Given the description of an element on the screen output the (x, y) to click on. 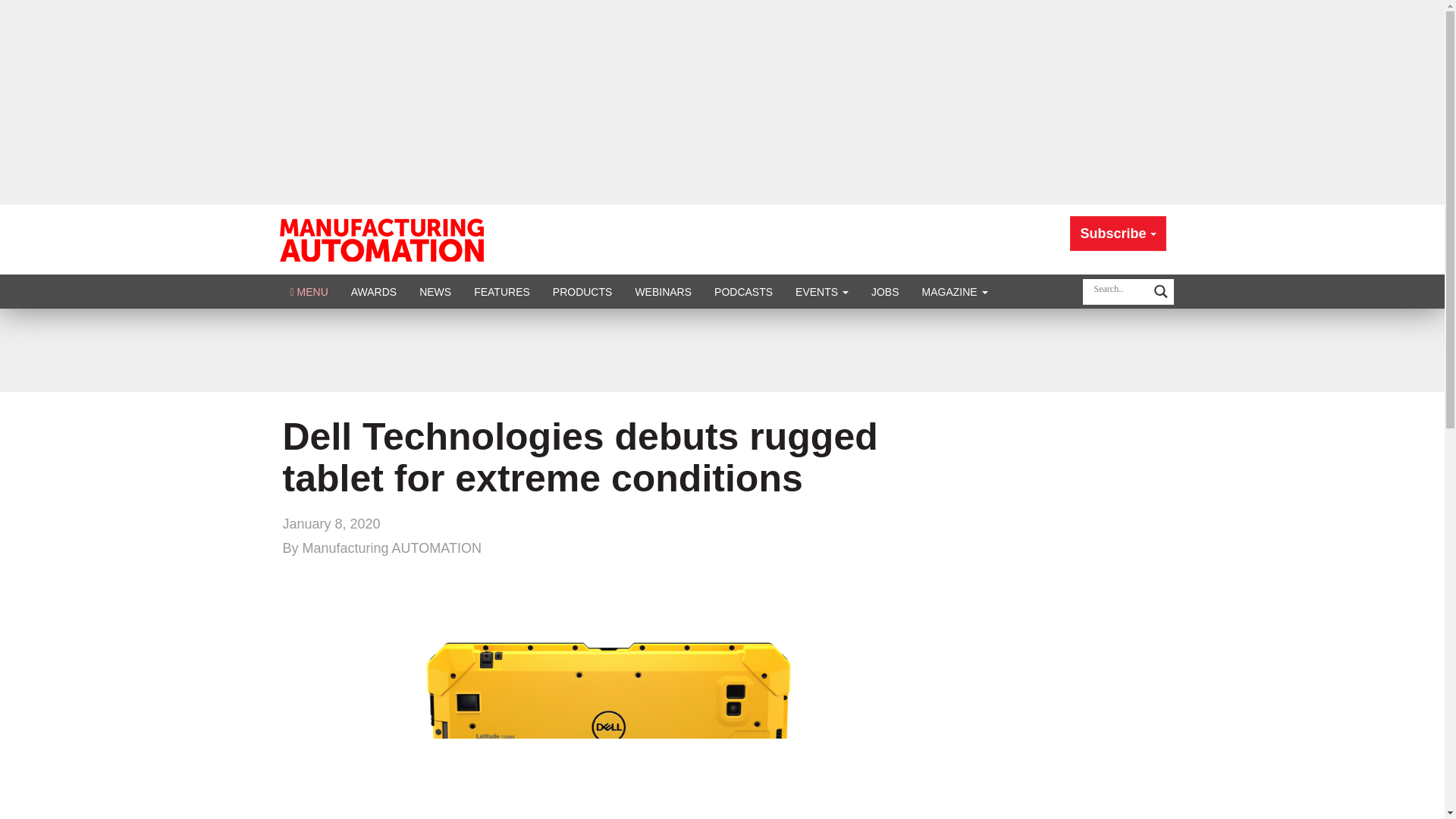
JOBS (885, 291)
Subscribe (1118, 233)
3rd party ad content (721, 350)
PRODUCTS (582, 291)
Manufacturing AUTOMATION (381, 238)
WEBINARS (663, 291)
EVENTS (822, 291)
AWARDS (373, 291)
PODCASTS (743, 291)
MAGAZINE (954, 291)
